Given the description of an element on the screen output the (x, y) to click on. 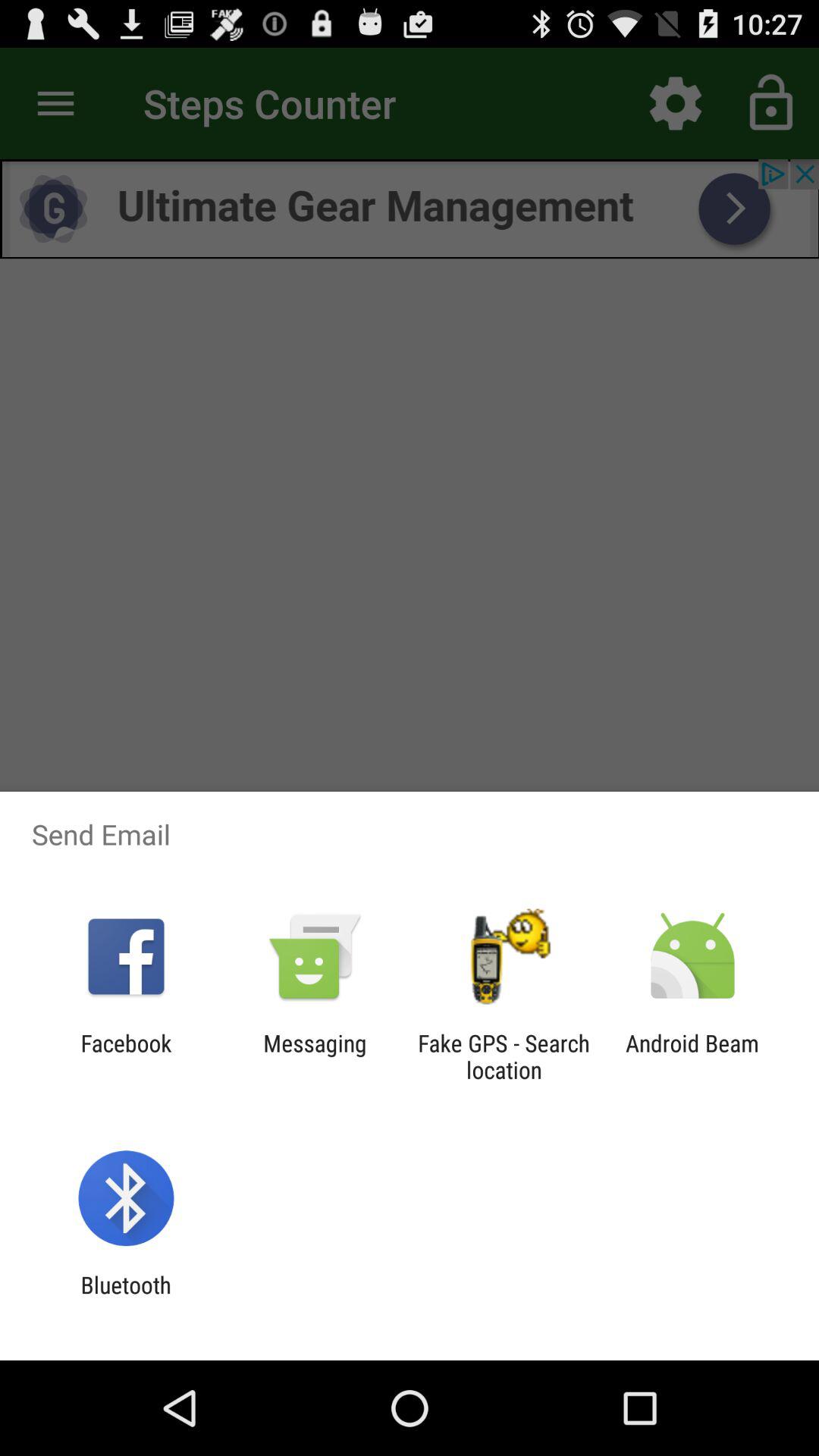
select bluetooth item (125, 1298)
